Given the description of an element on the screen output the (x, y) to click on. 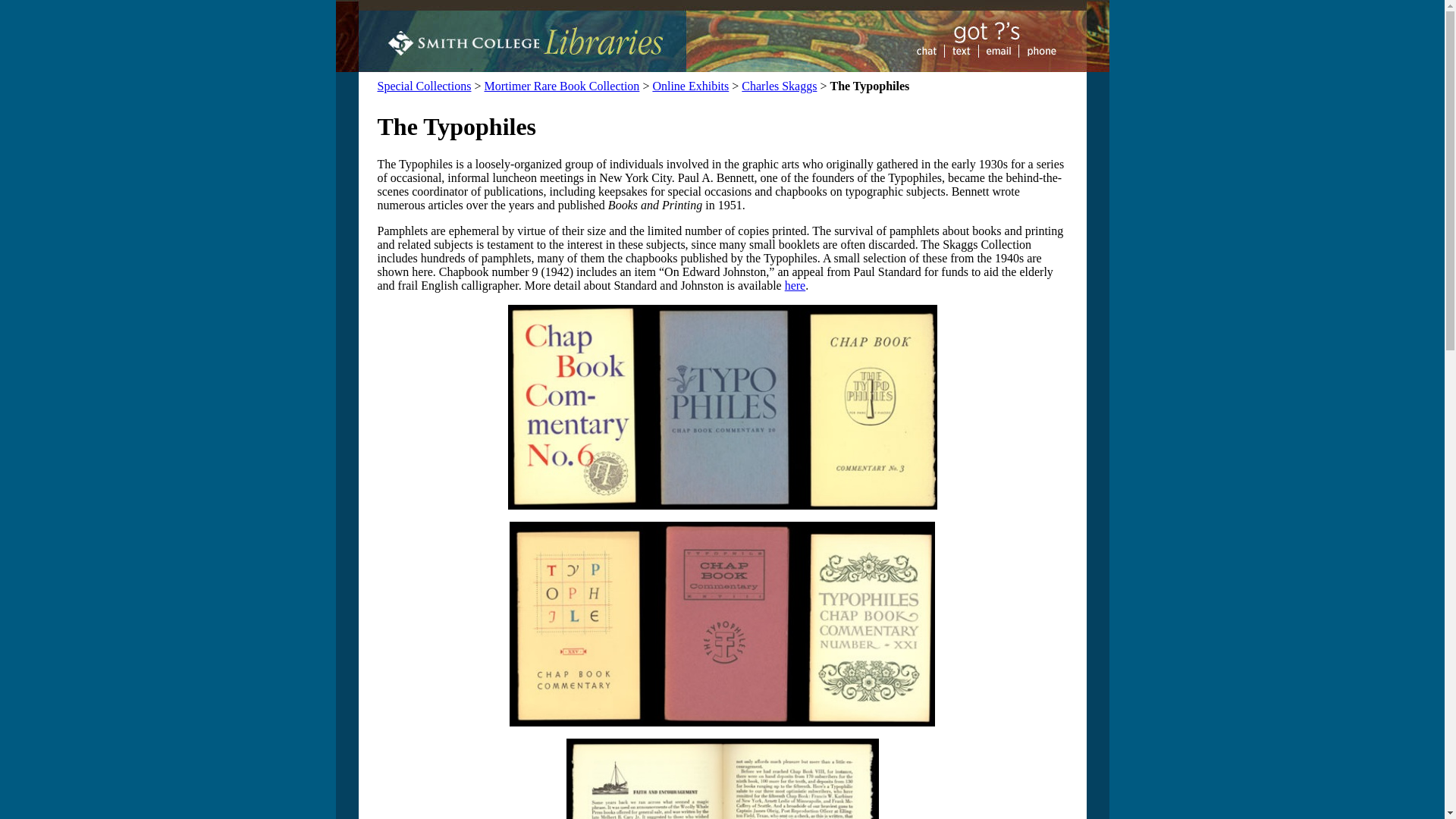
Online Exhibits (690, 85)
here (795, 285)
Special Collections (424, 85)
Charles Skaggs (778, 85)
Mortimer Rare Book Collection (562, 85)
